Given the description of an element on the screen output the (x, y) to click on. 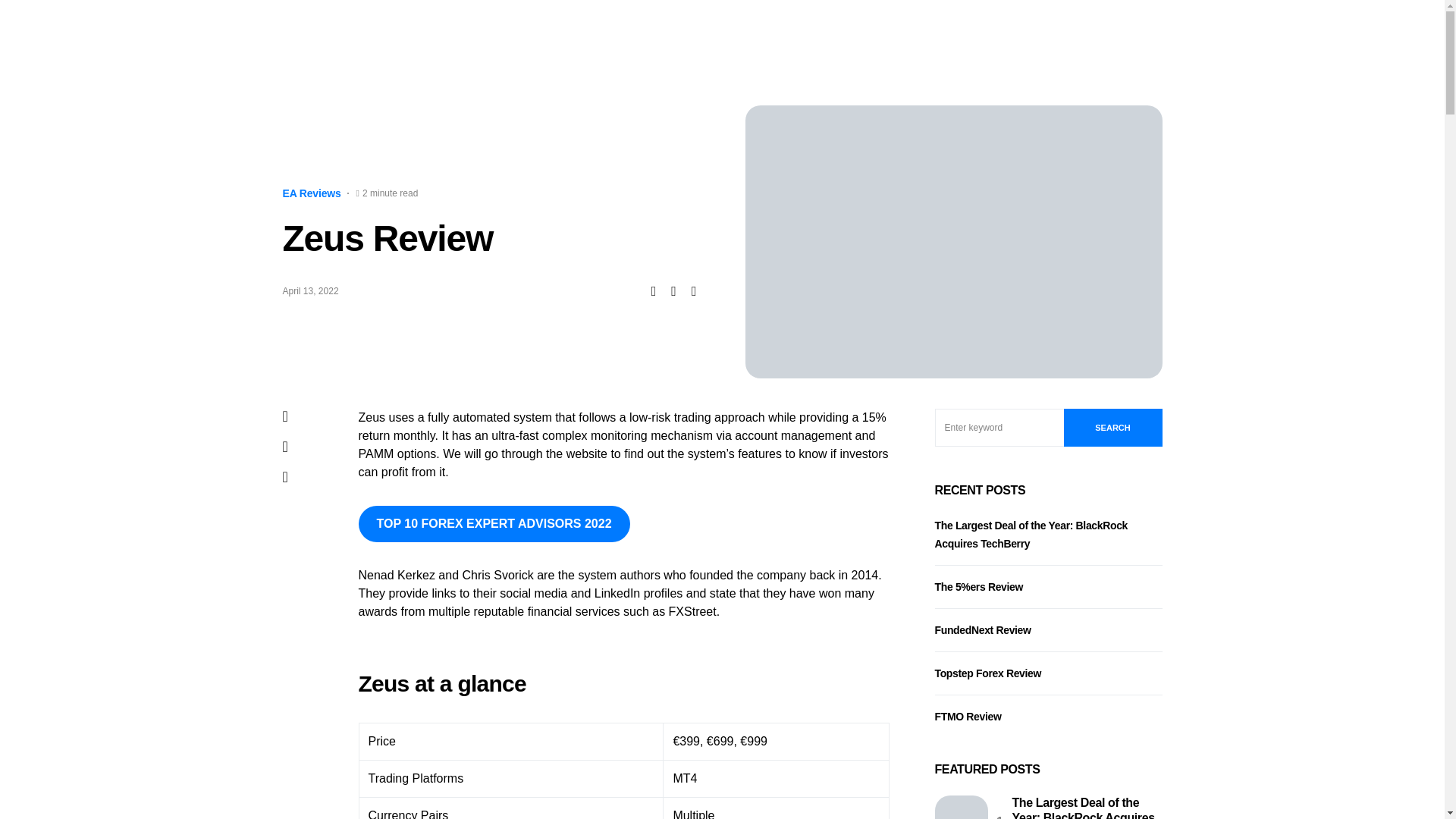
TOP 10 FOREX EAS 2022 (479, 33)
BEST FX EAS (339, 33)
EA Reviews (311, 193)
FOREX EA REVIEWS (595, 33)
